Given the description of an element on the screen output the (x, y) to click on. 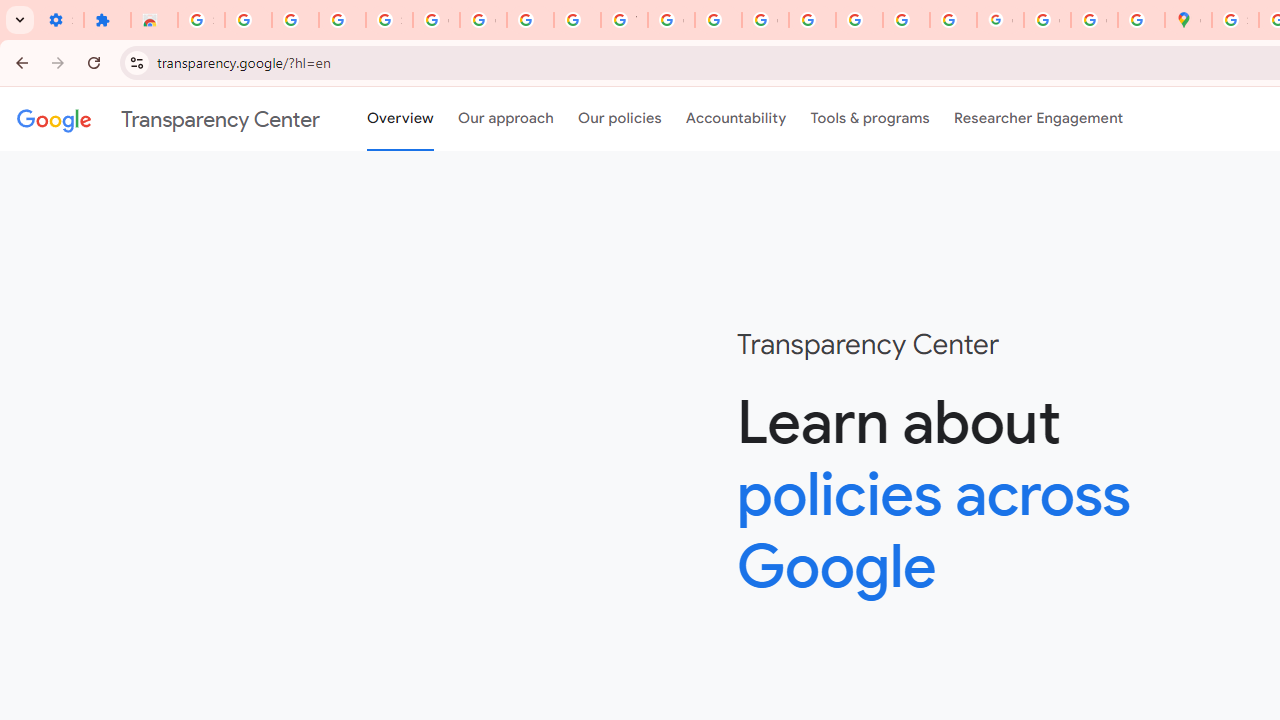
https://scholar.google.com/ (718, 20)
Our policies (619, 119)
Google Account Help (482, 20)
Tools & programs (869, 119)
Reviews: Helix Fruit Jump Arcade Game (153, 20)
Sign in - Google Accounts (1235, 20)
YouTube (623, 20)
Transparency Center (167, 119)
Settings - On startup (60, 20)
Our approach (506, 119)
Extensions (107, 20)
